Given the description of an element on the screen output the (x, y) to click on. 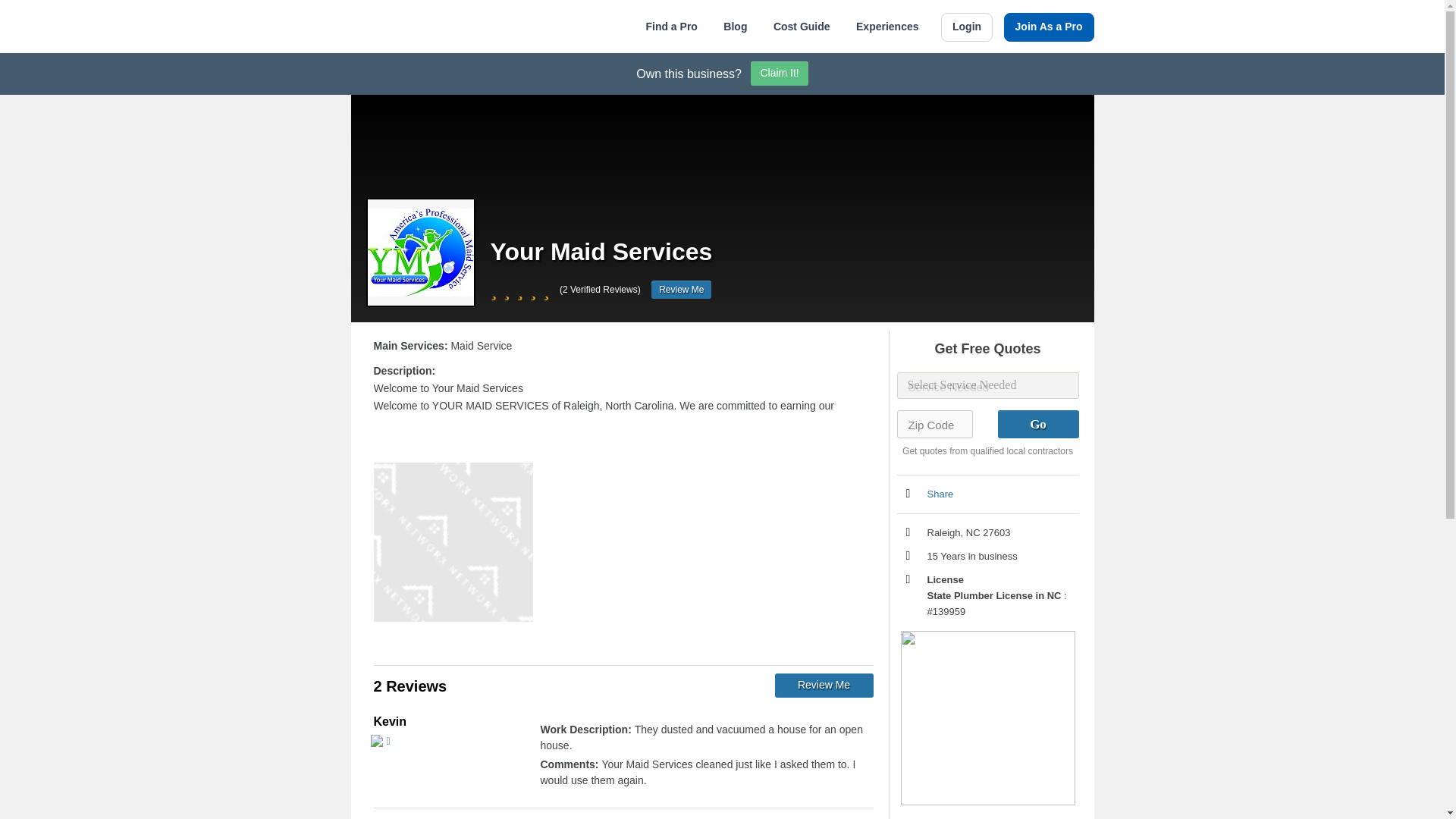
Find a Pro (670, 26)
Review Me (823, 685)
Blog (734, 26)
Go (1037, 424)
Go (1037, 424)
Claim It! (779, 73)
Experiences (887, 26)
Networx (418, 25)
Cost Guide (801, 26)
Review Me (680, 289)
Join As a Pro (1049, 27)
Login (966, 27)
